Given the description of an element on the screen output the (x, y) to click on. 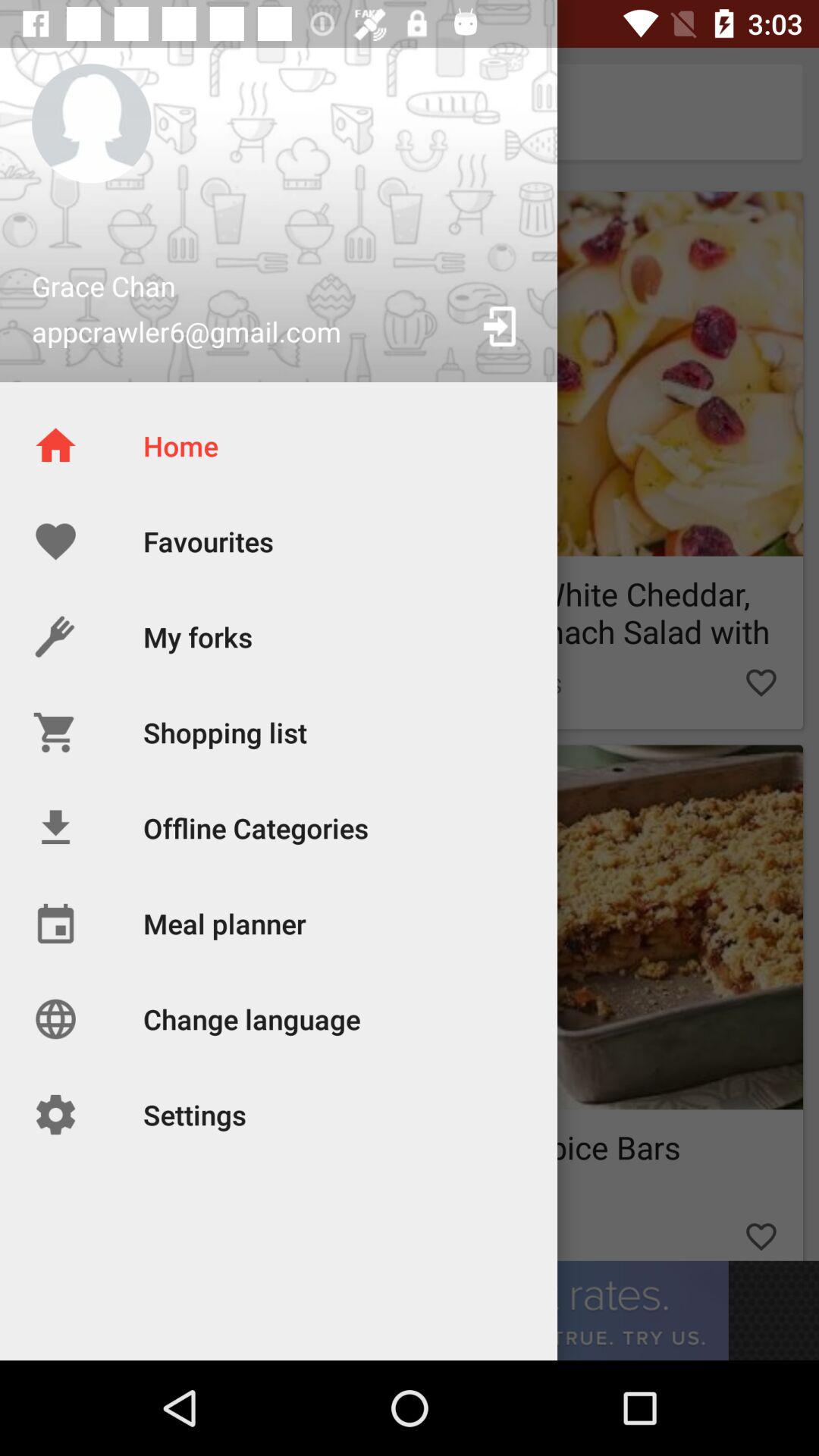
click the button on the right next to the text appcrawler6gmailcom on the web page (501, 326)
